Given the description of an element on the screen output the (x, y) to click on. 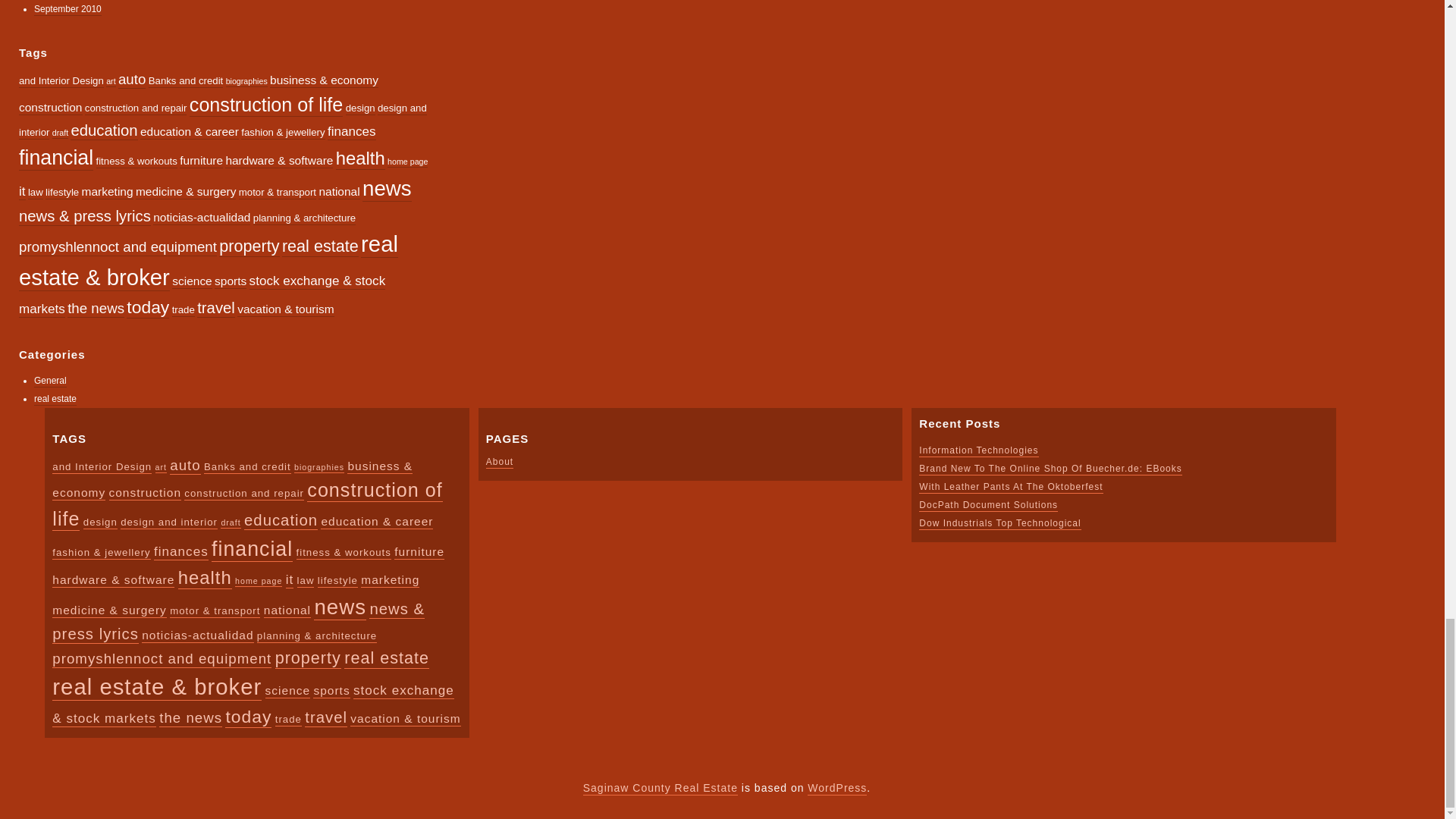
Saginaw County Real Estate (660, 788)
Semantic Personal Publishing Platform (837, 788)
